Given the description of an element on the screen output the (x, y) to click on. 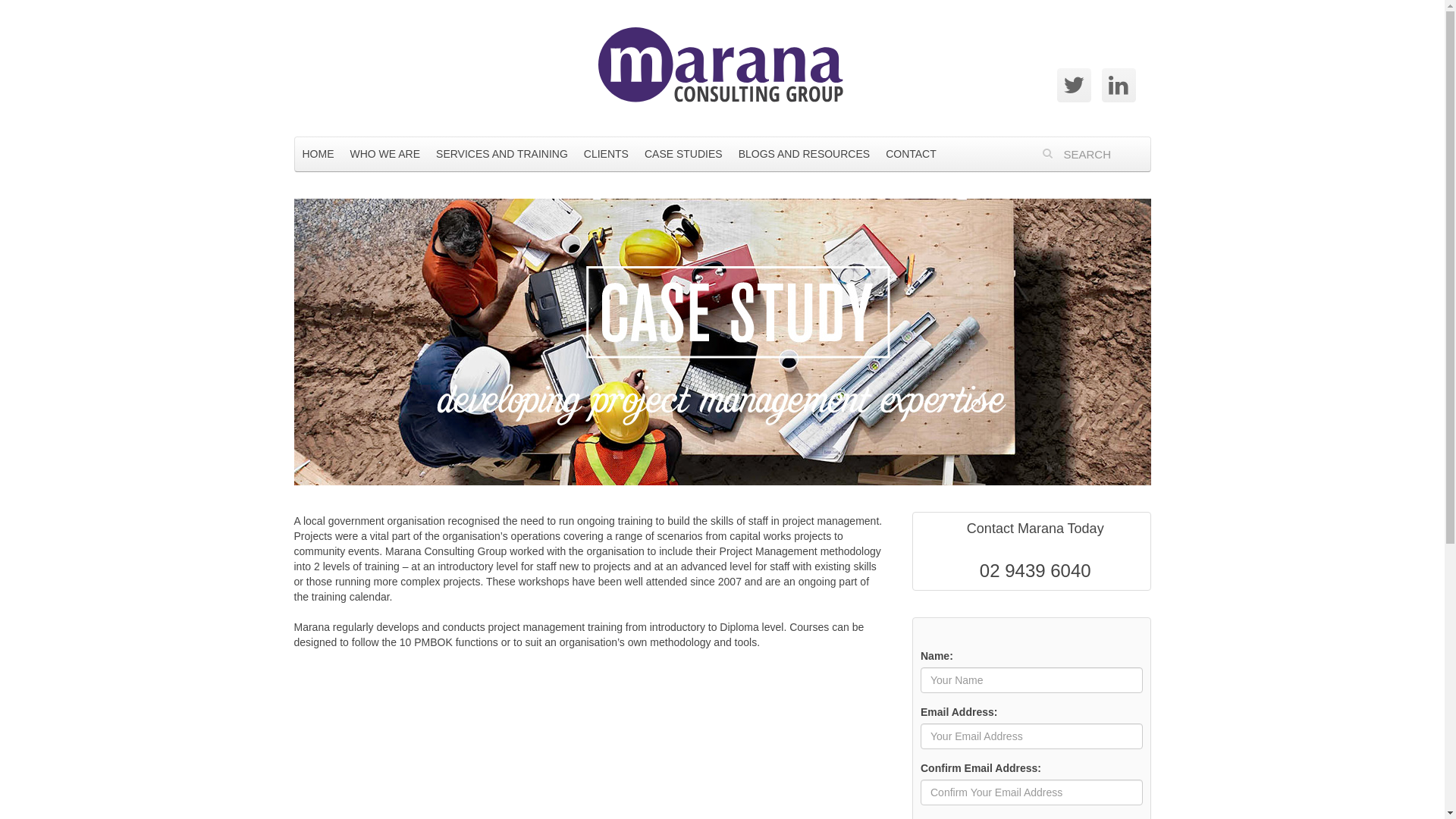
WHO WE ARE Element type: text (384, 153)
CONTACT Element type: text (910, 153)
HOME Element type: text (318, 153)
Reset Element type: text (11, 11)
BLOGS AND RESOURCES Element type: text (804, 153)
CLIENTS Element type: text (606, 153)
SERVICES AND TRAINING Element type: text (501, 153)
02 9439 6040 Element type: text (1035, 570)
CASE STUDIES Element type: text (683, 153)
